Given the description of an element on the screen output the (x, y) to click on. 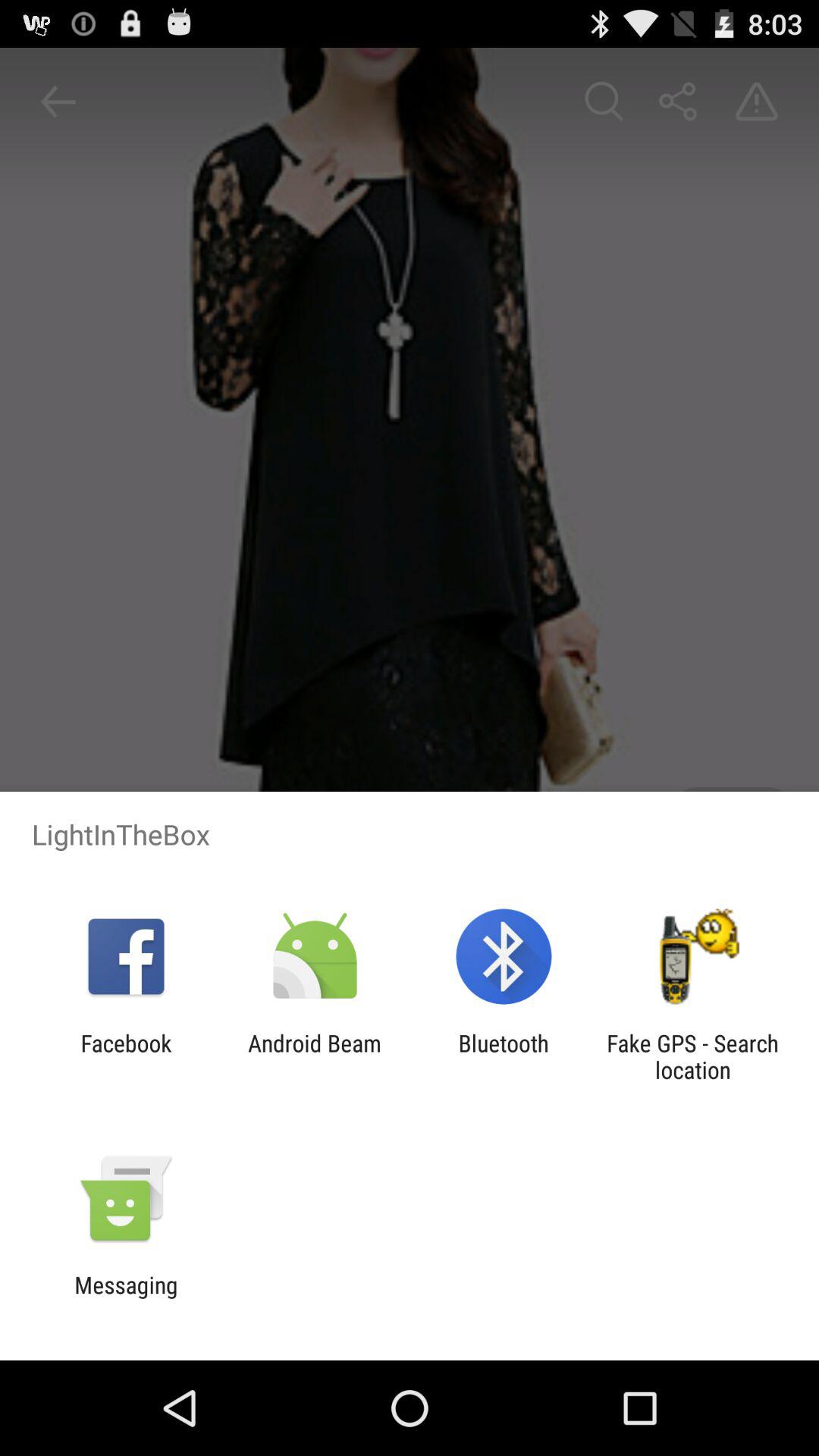
click icon next to android beam item (503, 1056)
